Given the description of an element on the screen output the (x, y) to click on. 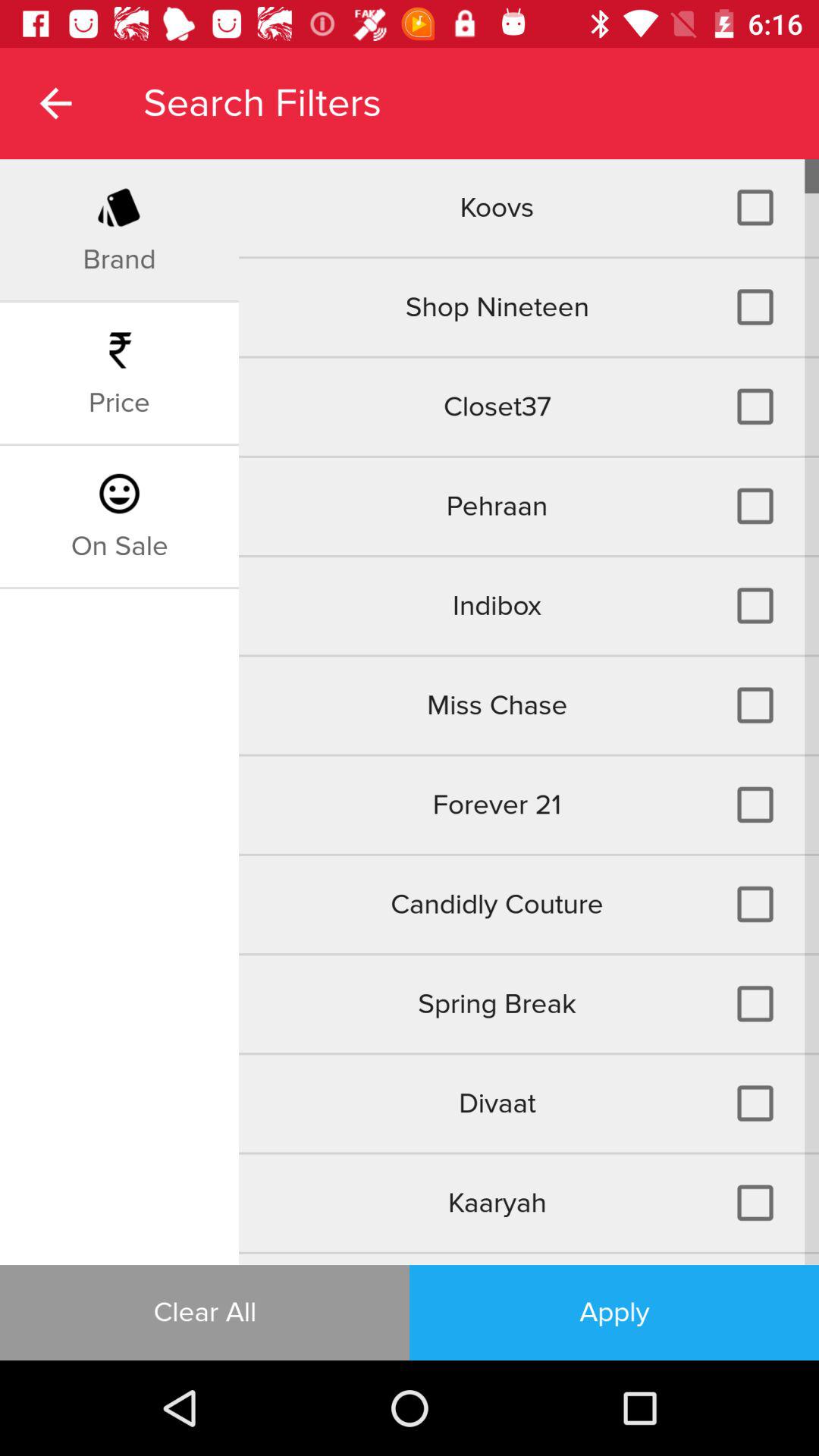
tap item below kaaryah item (528, 1259)
